Given the description of an element on the screen output the (x, y) to click on. 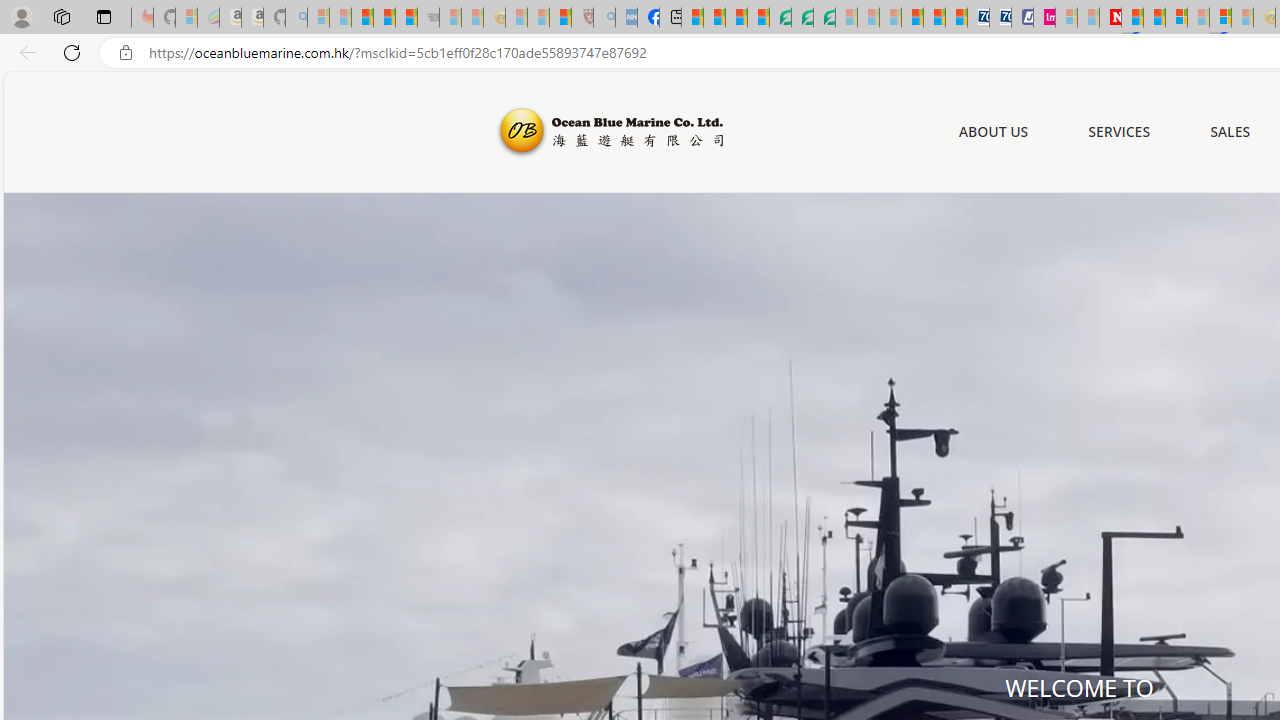
ABOUT US (993, 131)
Ocean Blue Marine (608, 132)
SERVICES (1119, 132)
